Given the description of an element on the screen output the (x, y) to click on. 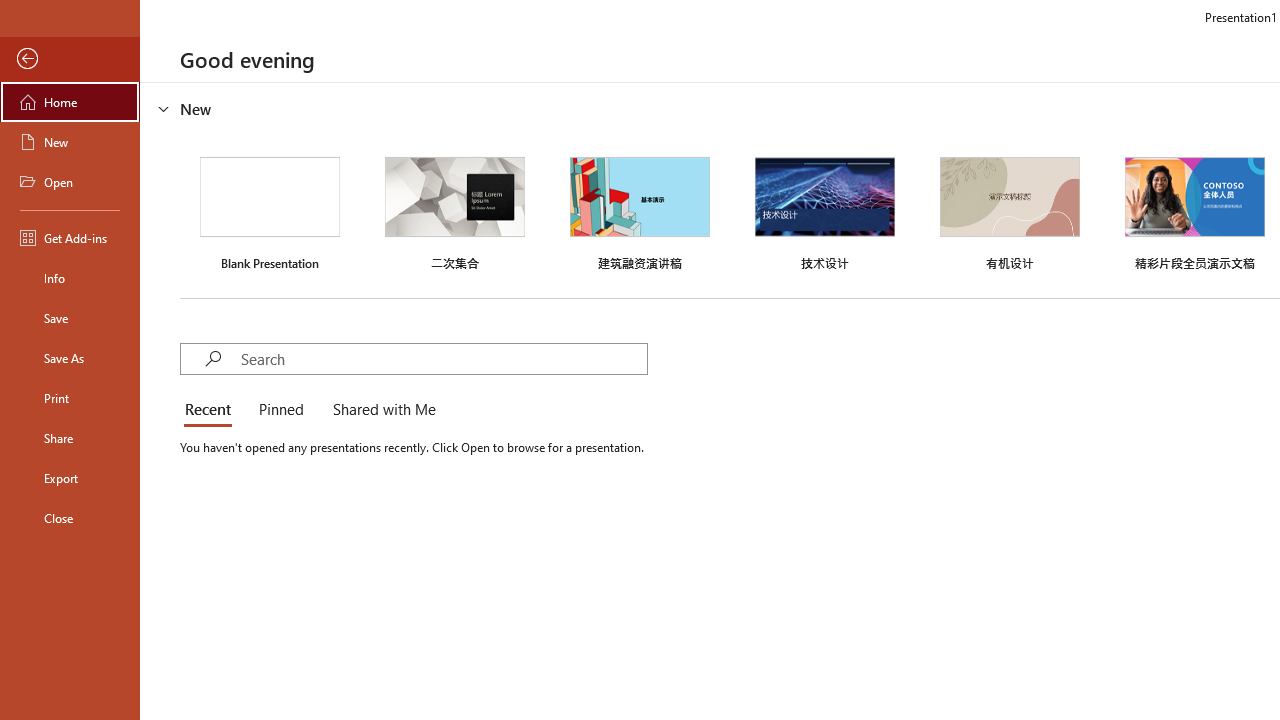
Back (69, 59)
Pinned (280, 410)
Blank Presentation (269, 211)
New (69, 141)
Print (69, 398)
Shared with Me (379, 410)
